Given the description of an element on the screen output the (x, y) to click on. 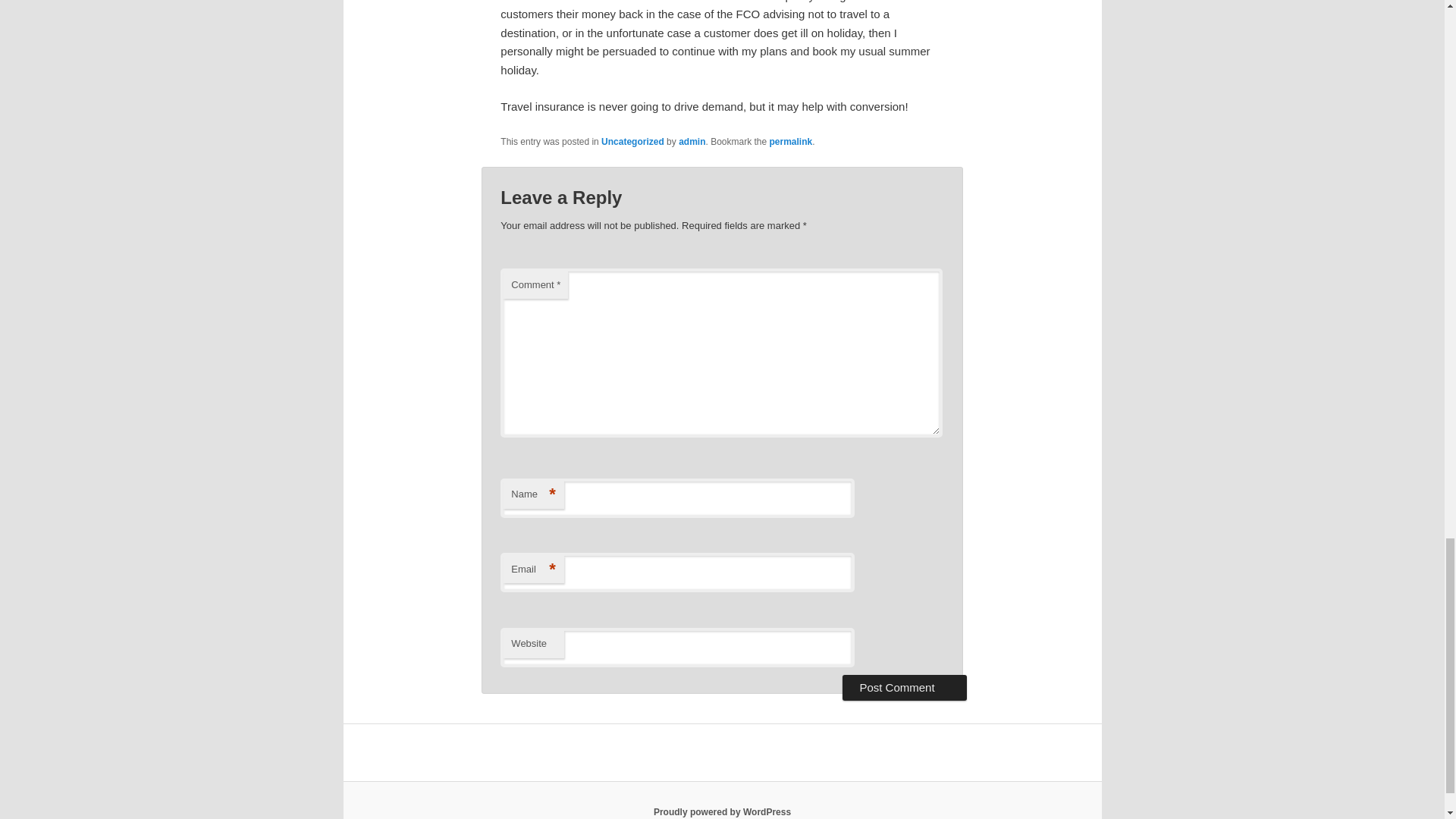
admin (691, 141)
Uncategorized (632, 141)
Proudly powered by WordPress (721, 811)
Semantic Personal Publishing Platform (721, 811)
Post Comment (904, 687)
Post Comment (904, 687)
permalink (791, 141)
